Given the description of an element on the screen output the (x, y) to click on. 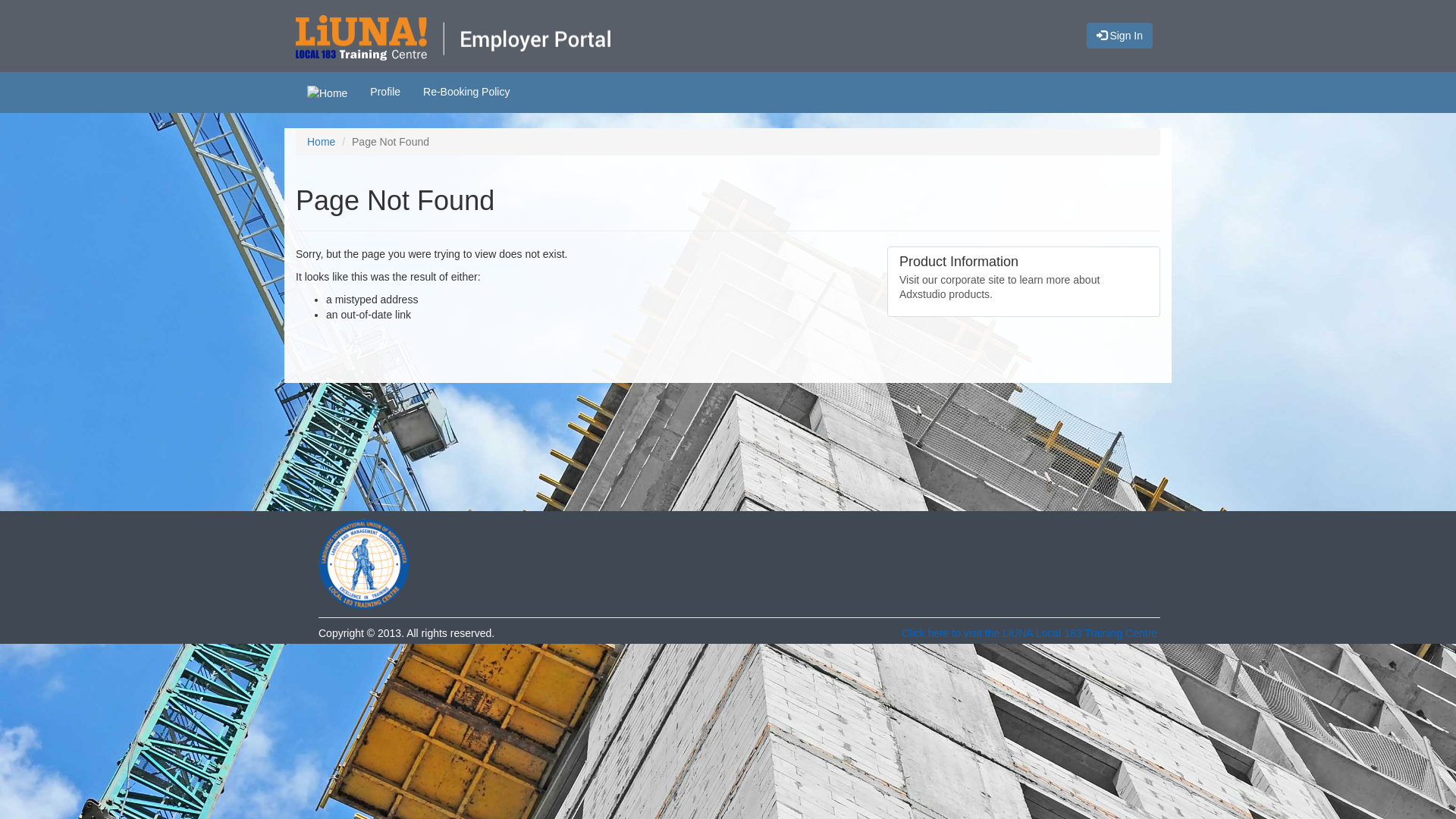
Click here to visit the LiUNA Local 183 Training Centre Element type: text (1029, 633)
Sign In Element type: text (1119, 35)
Home Element type: text (321, 141)
Re-Booking Policy Element type: text (465, 91)
LiUNA Local 183 Training Centre Employer Portal Element type: text (727, 39)
Home Element type: hover (326, 92)
Profile Element type: text (384, 91)
